Given the description of an element on the screen output the (x, y) to click on. 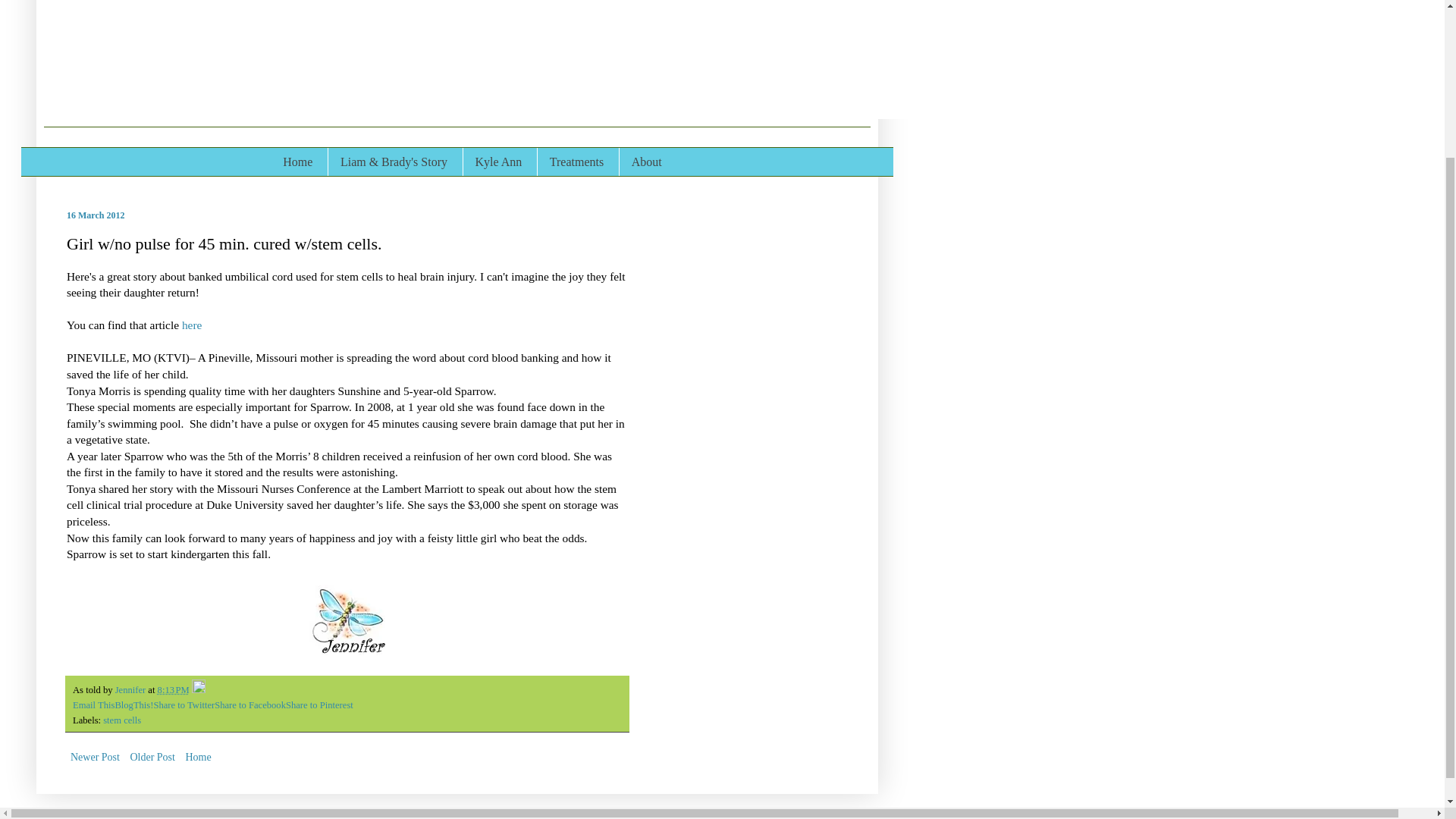
Newer Post (94, 756)
Kyle Ann (498, 162)
permanent link (173, 689)
here (192, 324)
Home (297, 162)
Jennifer (131, 689)
BlogThis! (133, 705)
Share to Pinterest (319, 705)
Share to Facebook (249, 705)
